Given the description of an element on the screen output the (x, y) to click on. 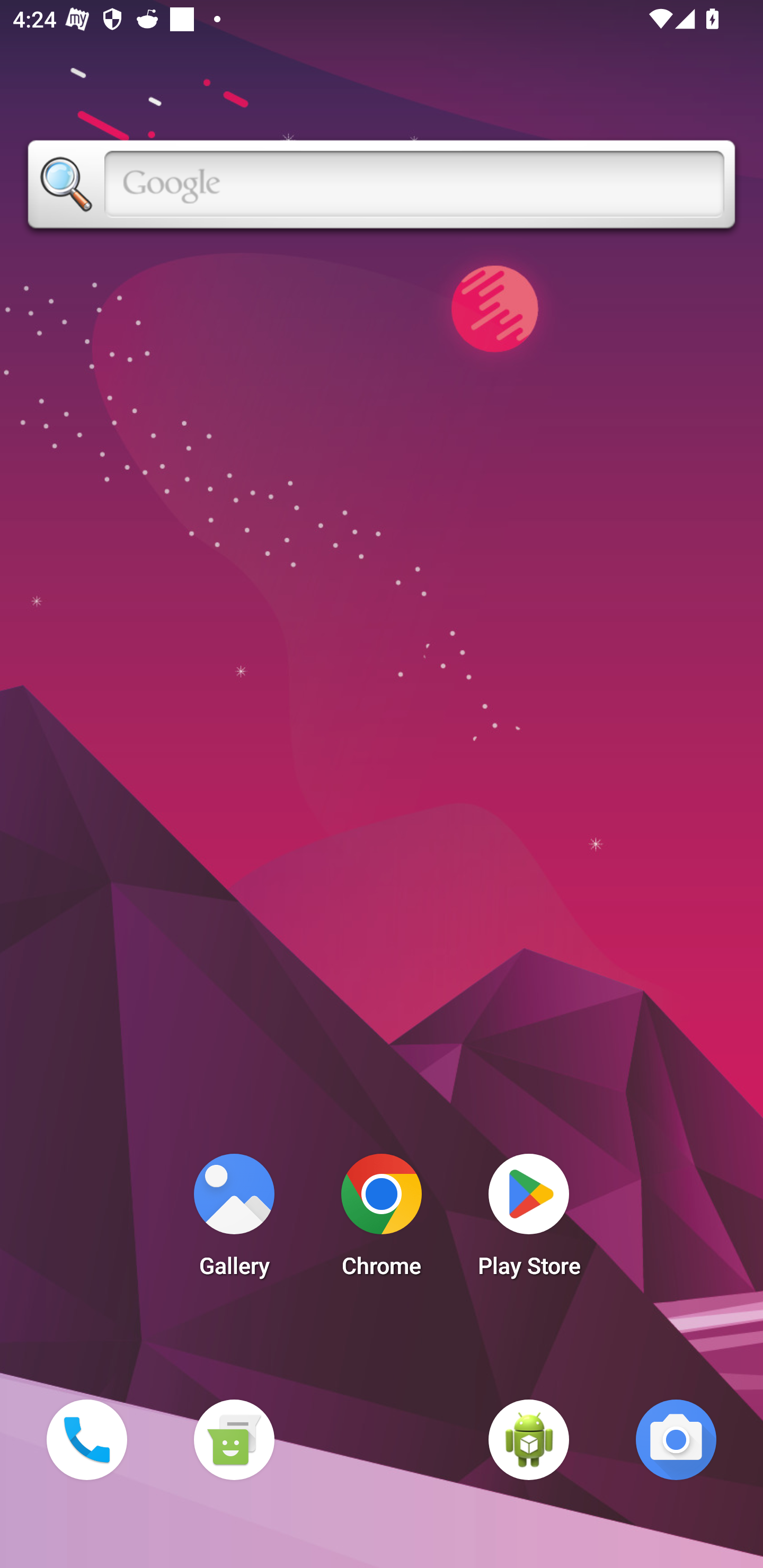
Gallery (233, 1220)
Chrome (381, 1220)
Play Store (528, 1220)
Phone (86, 1439)
Messaging (233, 1439)
WebView Browser Tester (528, 1439)
Camera (676, 1439)
